Given the description of an element on the screen output the (x, y) to click on. 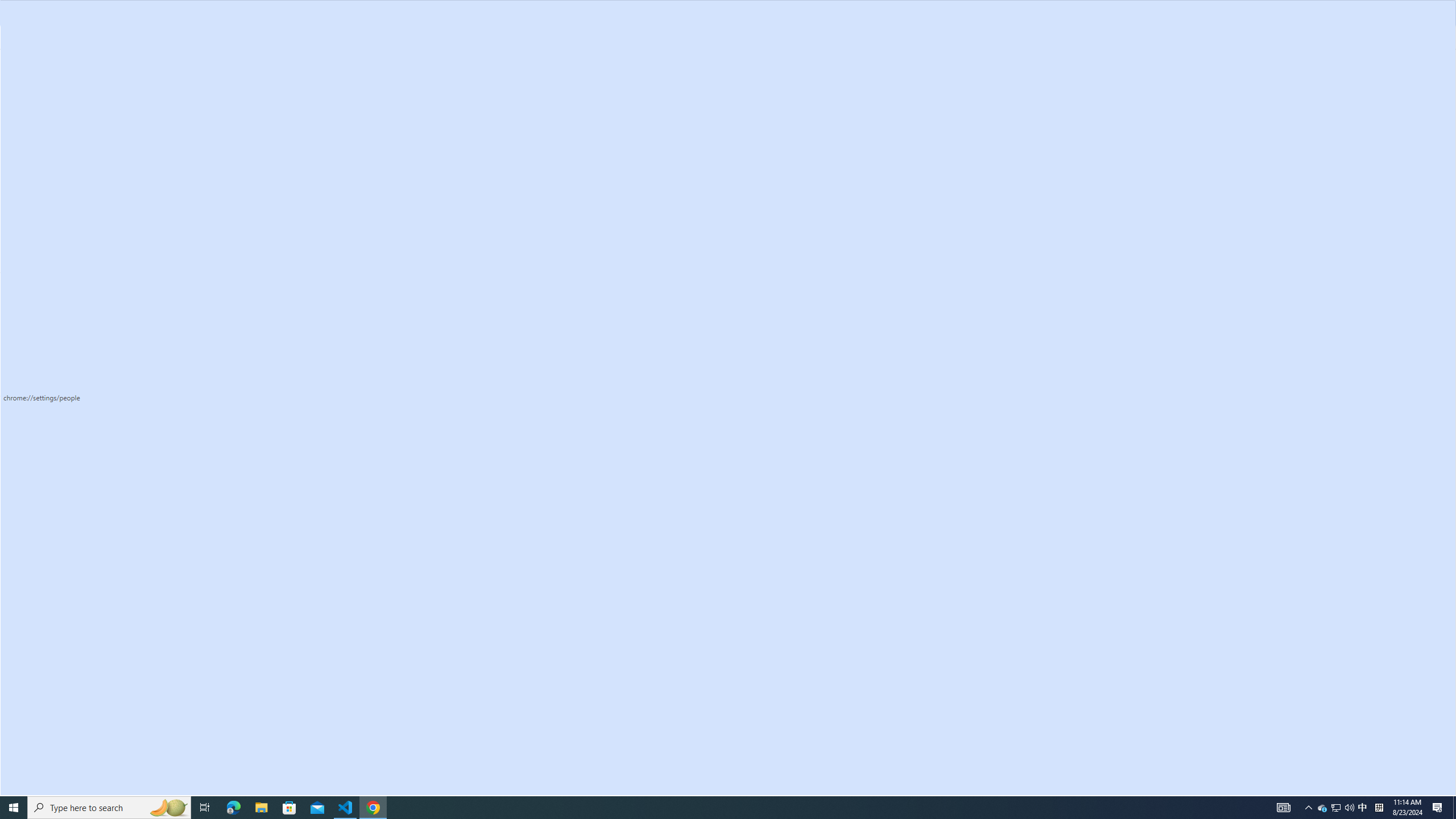
Search settings (735, 65)
You and Google (70, 96)
AutomationID: menu (71, 265)
On startup (70, 255)
Sync and Google services (904, 275)
Search engine (70, 210)
Downloads (70, 311)
